Given the description of an element on the screen output the (x, y) to click on. 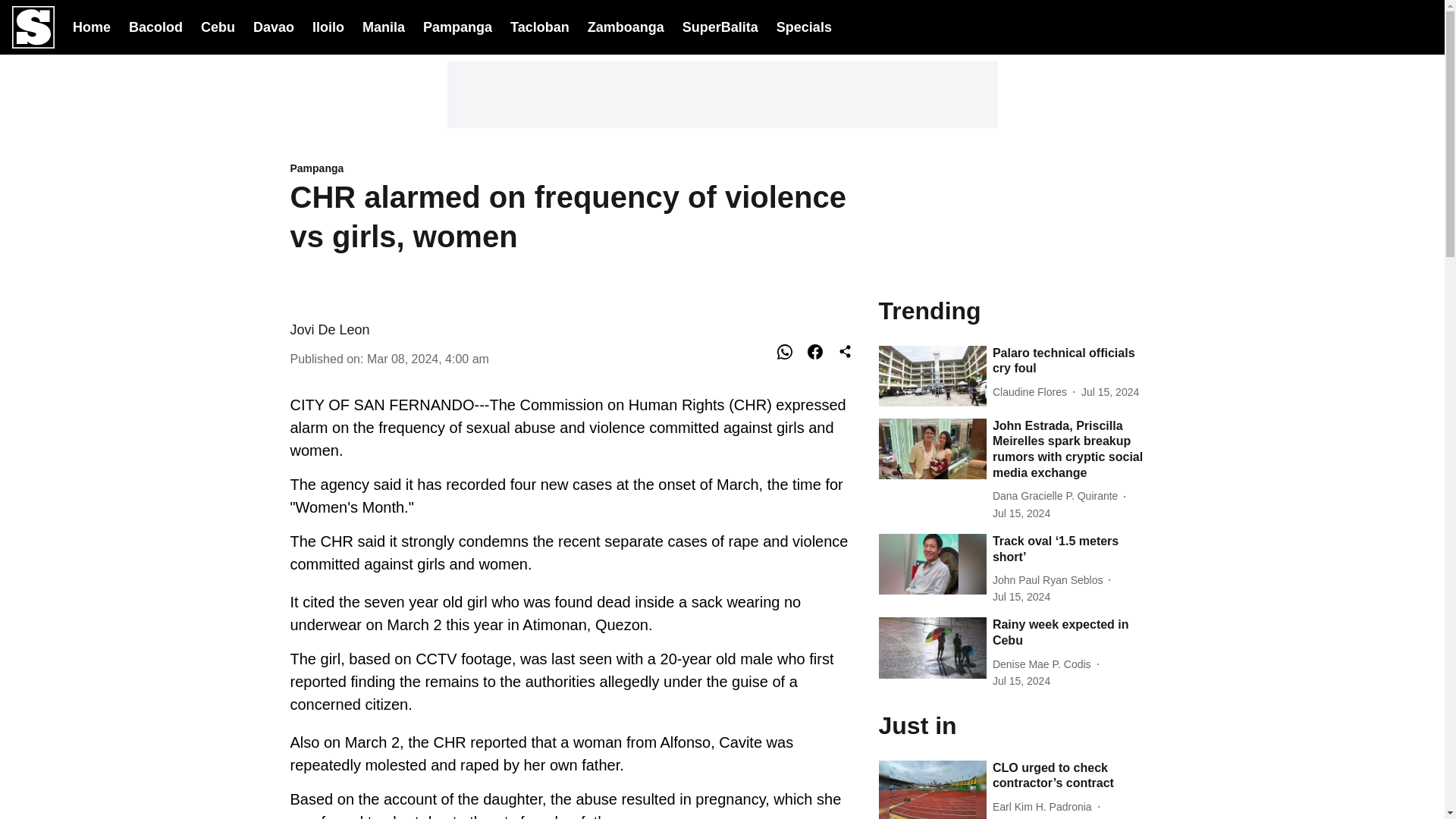
2024-07-15 05:28 (1020, 513)
Iloilo (328, 26)
Pampanga (574, 169)
2024-03-07 20:00 (427, 358)
Cebu (217, 26)
Zamboanga (625, 26)
2024-07-15 12:32 (1020, 596)
Dark Mode (1382, 27)
Trending (1015, 309)
Home (91, 26)
Palaro technical officials cry foul (1073, 361)
2024-07-16 15:21 (1020, 817)
2024-07-15 09:39 (1020, 681)
2024-07-15 12:27 (1109, 392)
Pampanga (457, 26)
